Given the description of an element on the screen output the (x, y) to click on. 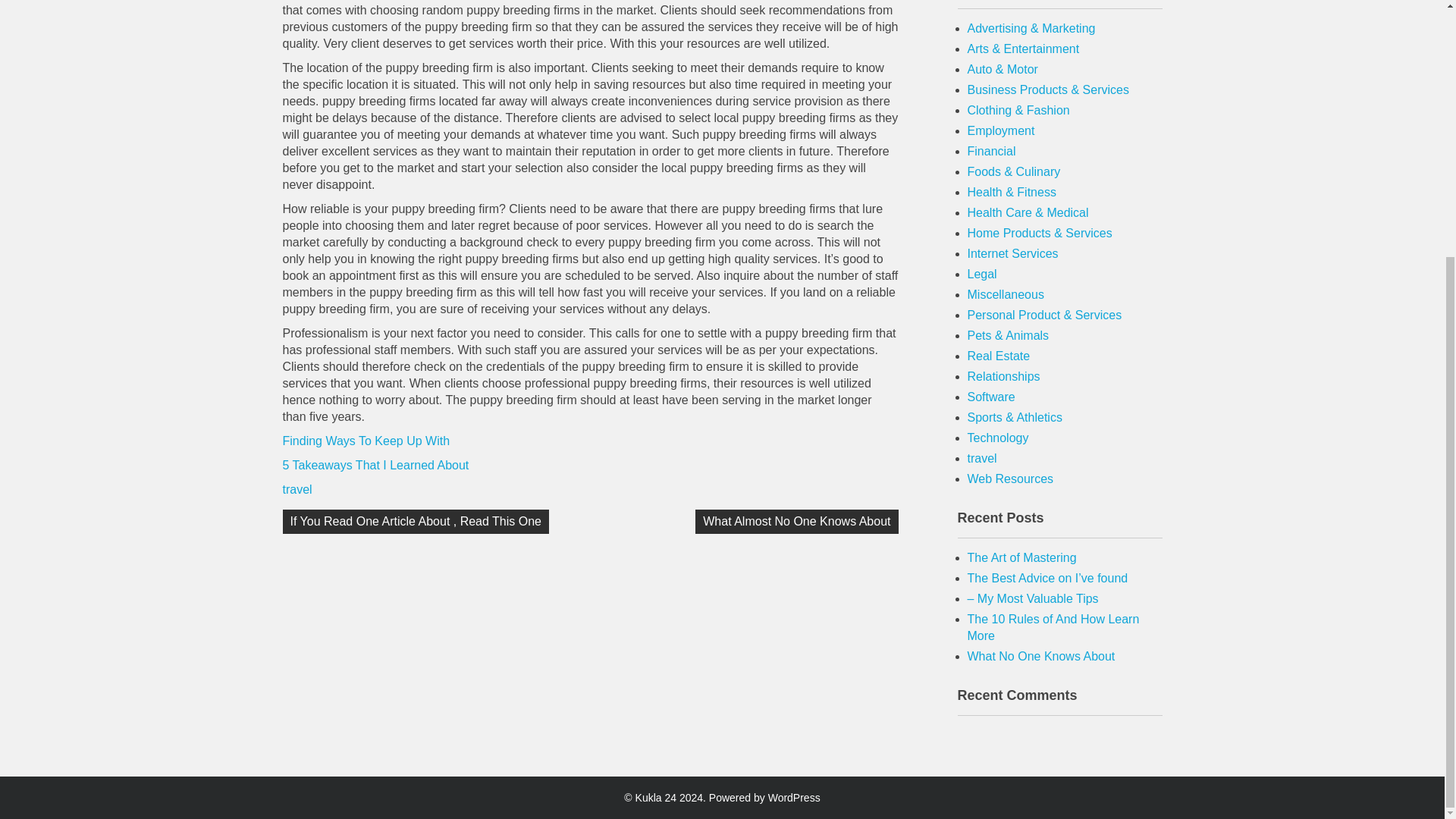
Employment (1001, 130)
Technology (998, 437)
Real Estate (999, 355)
Miscellaneous (1005, 294)
Software (991, 396)
Internet Services (1013, 253)
Relationships (1004, 376)
Legal (982, 273)
What Almost No One Knows About (796, 521)
Financial (992, 151)
If You Read One Article About , Read This One (415, 521)
travel (296, 489)
Finding Ways To Keep Up With (365, 440)
5 Takeaways That I Learned About (375, 464)
